Given the description of an element on the screen output the (x, y) to click on. 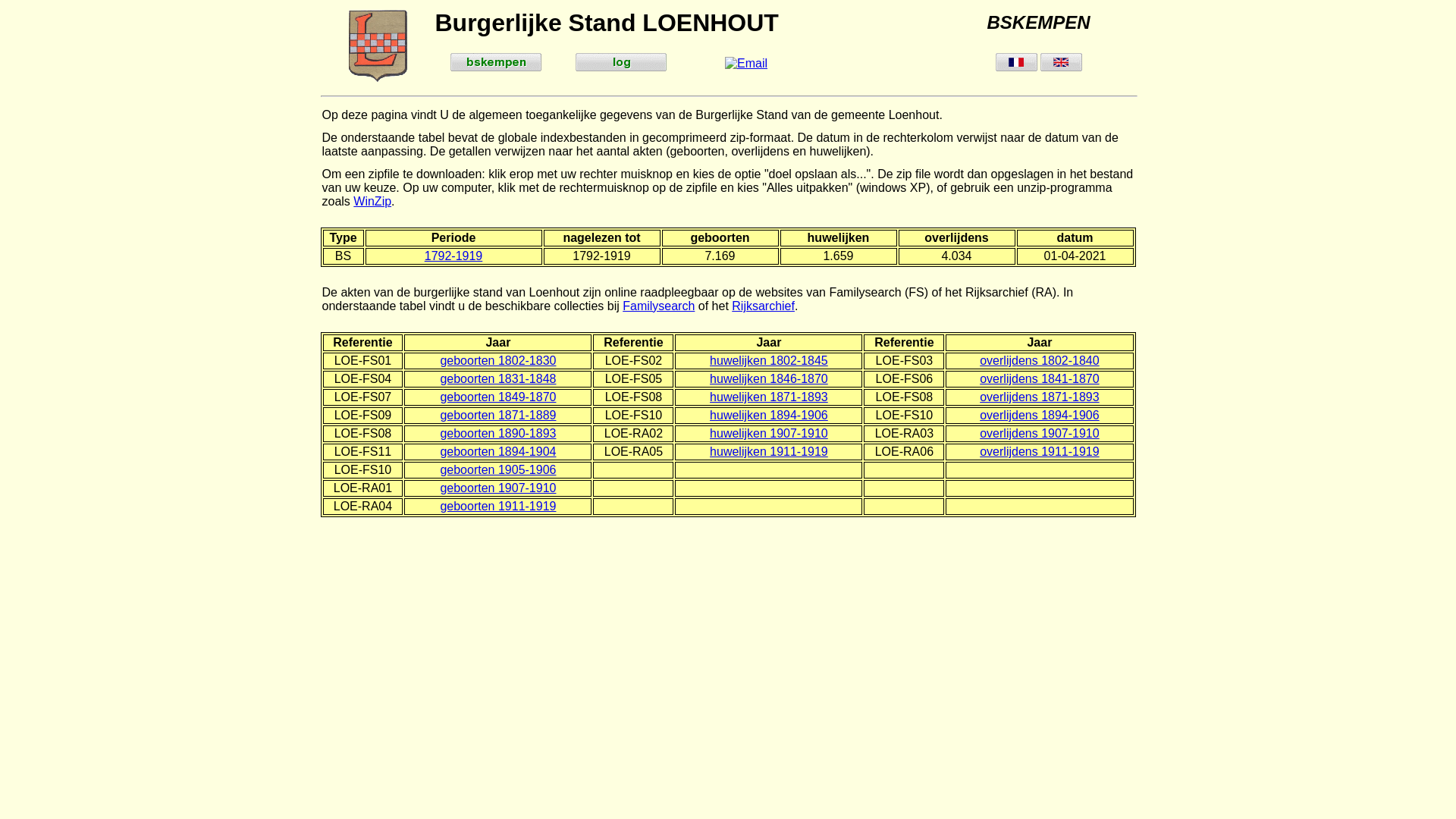
geboorten 1831-1848 Element type: text (497, 378)
WinZip Element type: text (372, 200)
Rijksarchief Element type: text (762, 305)
geboorten 1890-1893 Element type: text (497, 432)
geboorten 1871-1889 Element type: text (497, 414)
overlijdens 1911-1919 Element type: text (1038, 451)
Familysearch Element type: text (658, 305)
geboorten 1802-1830 Element type: text (497, 360)
overlijdens 1802-1840 Element type: text (1038, 360)
huwelijken 1907-1910 Element type: text (768, 432)
geboorten 1905-1906 Element type: text (497, 469)
huwelijken 1894-1906 Element type: text (768, 414)
overlijdens 1841-1870 Element type: text (1038, 378)
geboorten 1849-1870 Element type: text (497, 396)
overlijdens 1907-1910 Element type: text (1038, 432)
huwelijken 1802-1845 Element type: text (768, 360)
huwelijken 1846-1870 Element type: text (768, 378)
geboorten 1907-1910 Element type: text (497, 487)
geboorten 1894-1904 Element type: text (497, 451)
huwelijken 1871-1893 Element type: text (768, 396)
overlijdens 1871-1893 Element type: text (1038, 396)
geboorten 1911-1919 Element type: text (497, 505)
1792-1919 Element type: text (453, 255)
huwelijken 1911-1919 Element type: text (768, 451)
overlijdens 1894-1906 Element type: text (1038, 414)
